Given the description of an element on the screen output the (x, y) to click on. 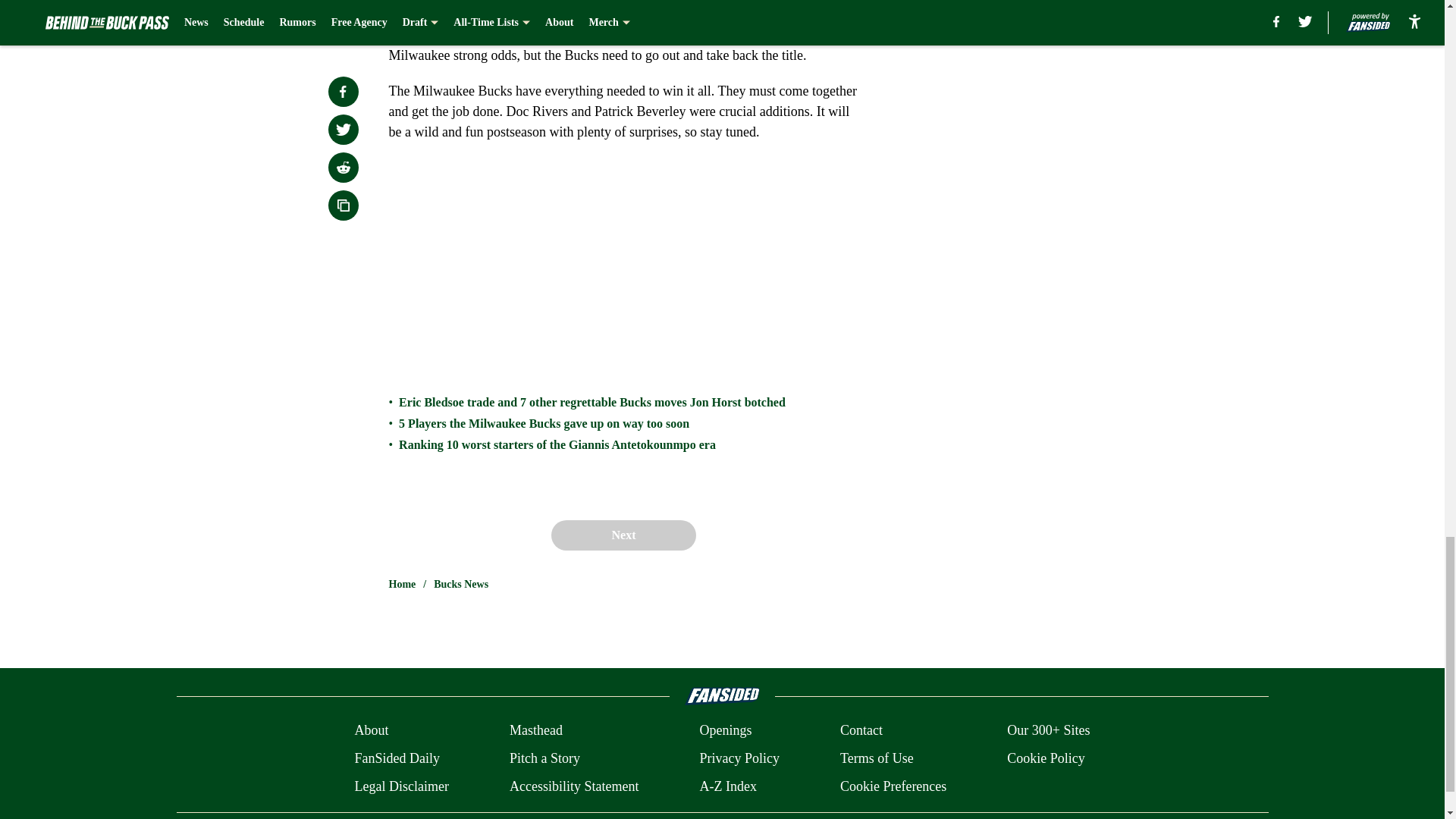
Ranking 10 worst starters of the Giannis Antetokounmpo era (557, 445)
Next (622, 535)
5 Players the Milwaukee Bucks gave up on way too soon (543, 423)
